Given the description of an element on the screen output the (x, y) to click on. 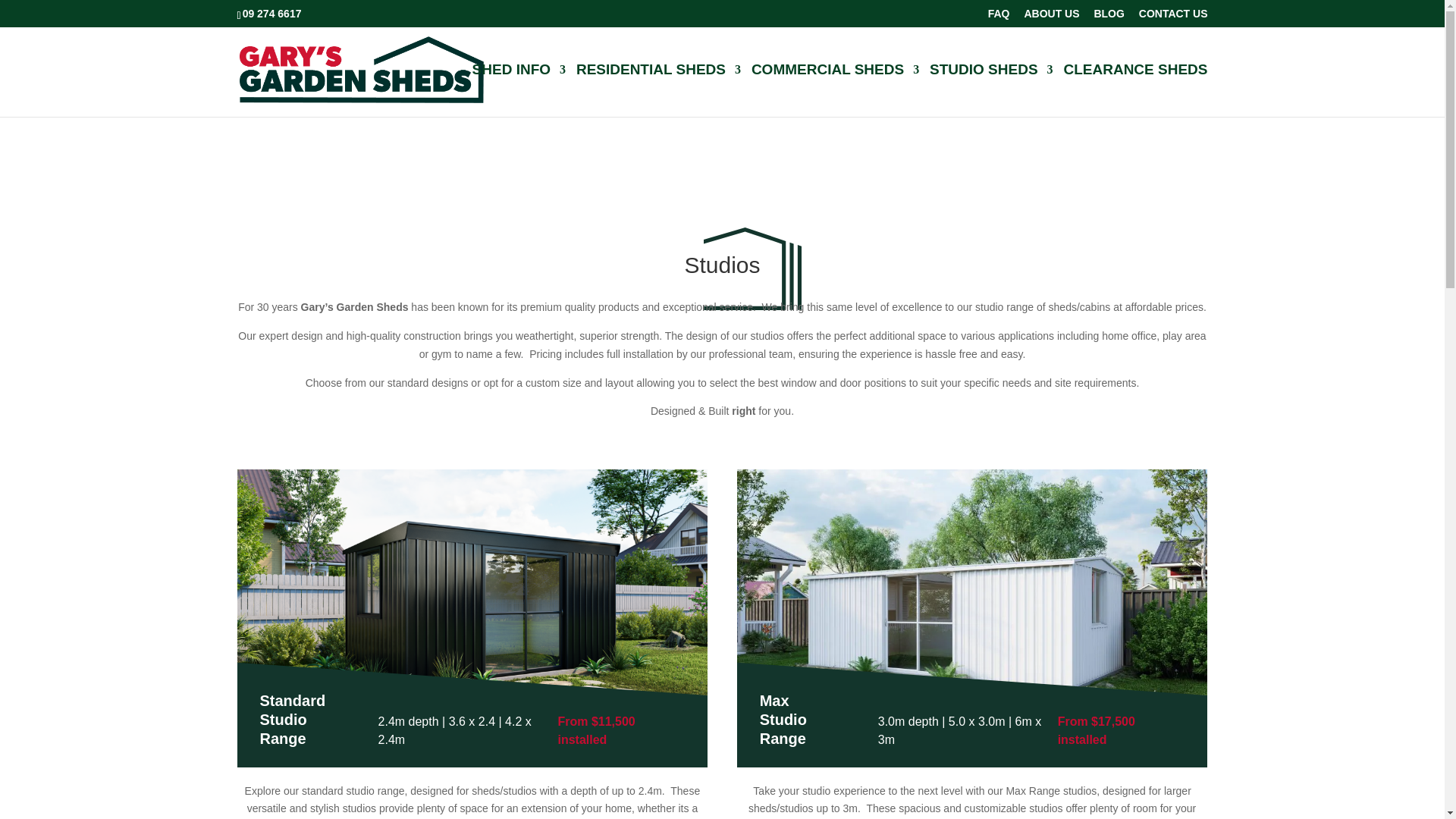
Photo 19-02-23, 08 10 02 Reduced (972, 601)
ABOUT US (1050, 16)
BLOG (1108, 16)
CONTACT US (1173, 16)
09 274 6617 (273, 13)
CLEARANCE SHEDS (1134, 90)
RESIDENTIAL SHEDS (658, 90)
COMMERCIAL SHEDS (834, 90)
STUDIO SHEDS (991, 90)
FAQ (999, 16)
